Given the description of an element on the screen output the (x, y) to click on. 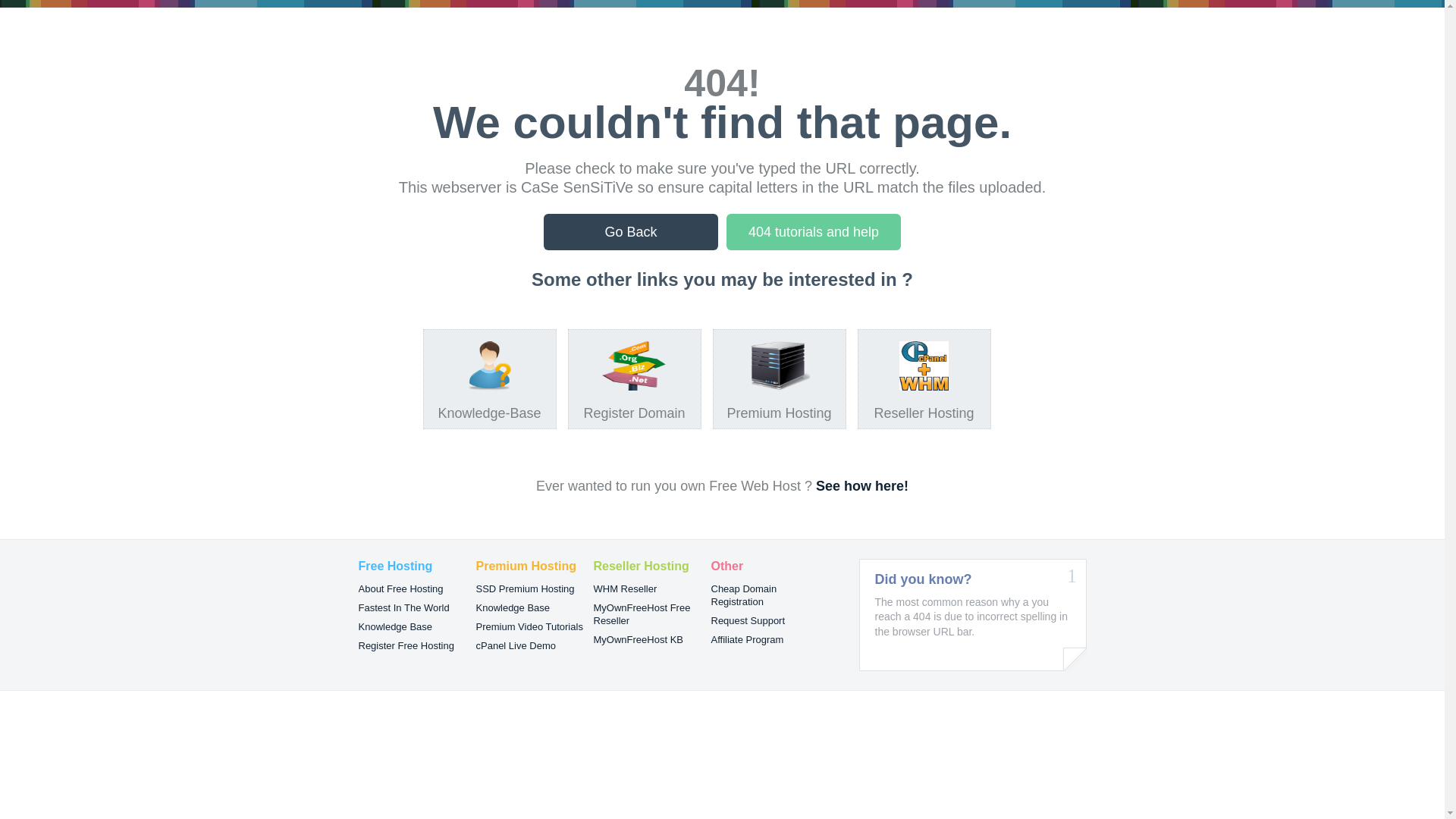
WHM Reseller Element type: text (624, 588)
404 tutorials and help Element type: text (813, 231)
See how here! Element type: text (861, 485)
Request Support Element type: text (748, 620)
About Free Hosting Element type: text (399, 588)
Knowledge Base Element type: text (394, 626)
Register Free Hosting Element type: text (405, 645)
Premium Video Tutorials Element type: text (529, 626)
Cheap Domain Registration Element type: text (744, 595)
SSD Premium Hosting Element type: text (525, 588)
Go Back Element type: text (630, 231)
Affiliate Program Element type: text (747, 639)
MyOwnFreeHost Free Reseller Element type: text (641, 614)
MyOwnFreeHost KB Element type: text (637, 639)
Knowledge Base Element type: text (513, 607)
Fastest In The World Element type: text (402, 607)
cPanel Live Demo Element type: text (516, 645)
